Given the description of an element on the screen output the (x, y) to click on. 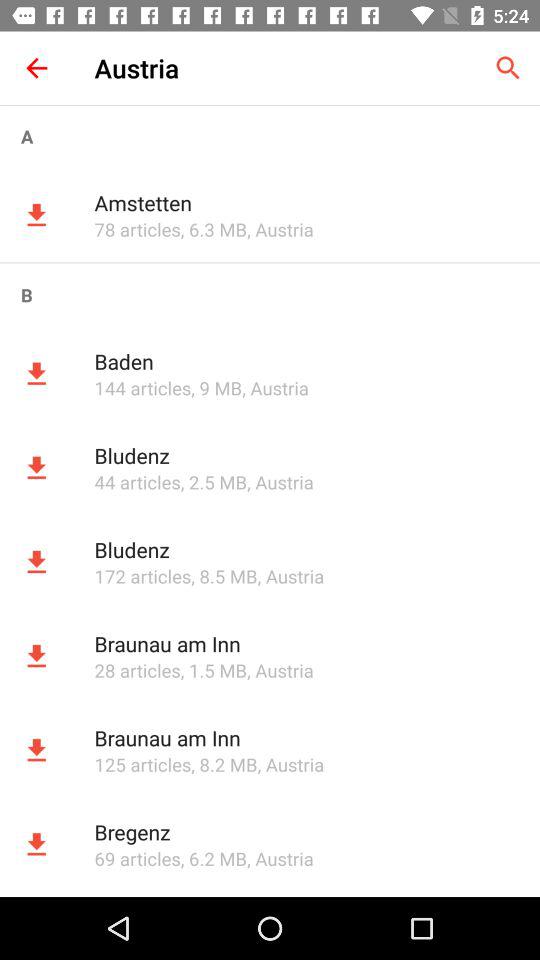
open item below the braunau am inn (142, 764)
